Given the description of an element on the screen output the (x, y) to click on. 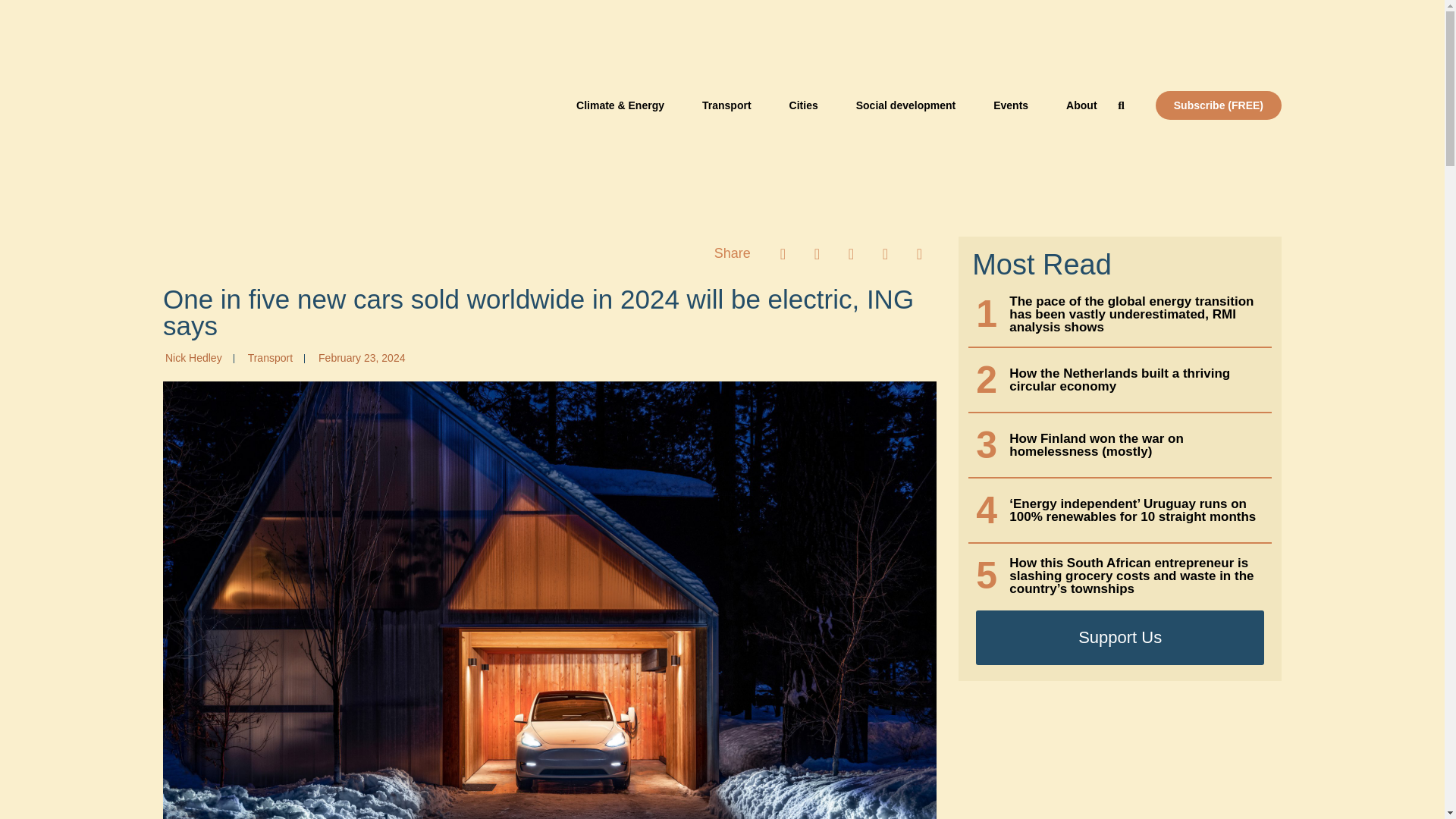
Social development (905, 104)
Nick Hedley (192, 358)
Events (1011, 104)
Cities (804, 104)
Transport (726, 104)
February 23, 2024 (359, 358)
About (1081, 104)
Transport (269, 357)
